Given the description of an element on the screen output the (x, y) to click on. 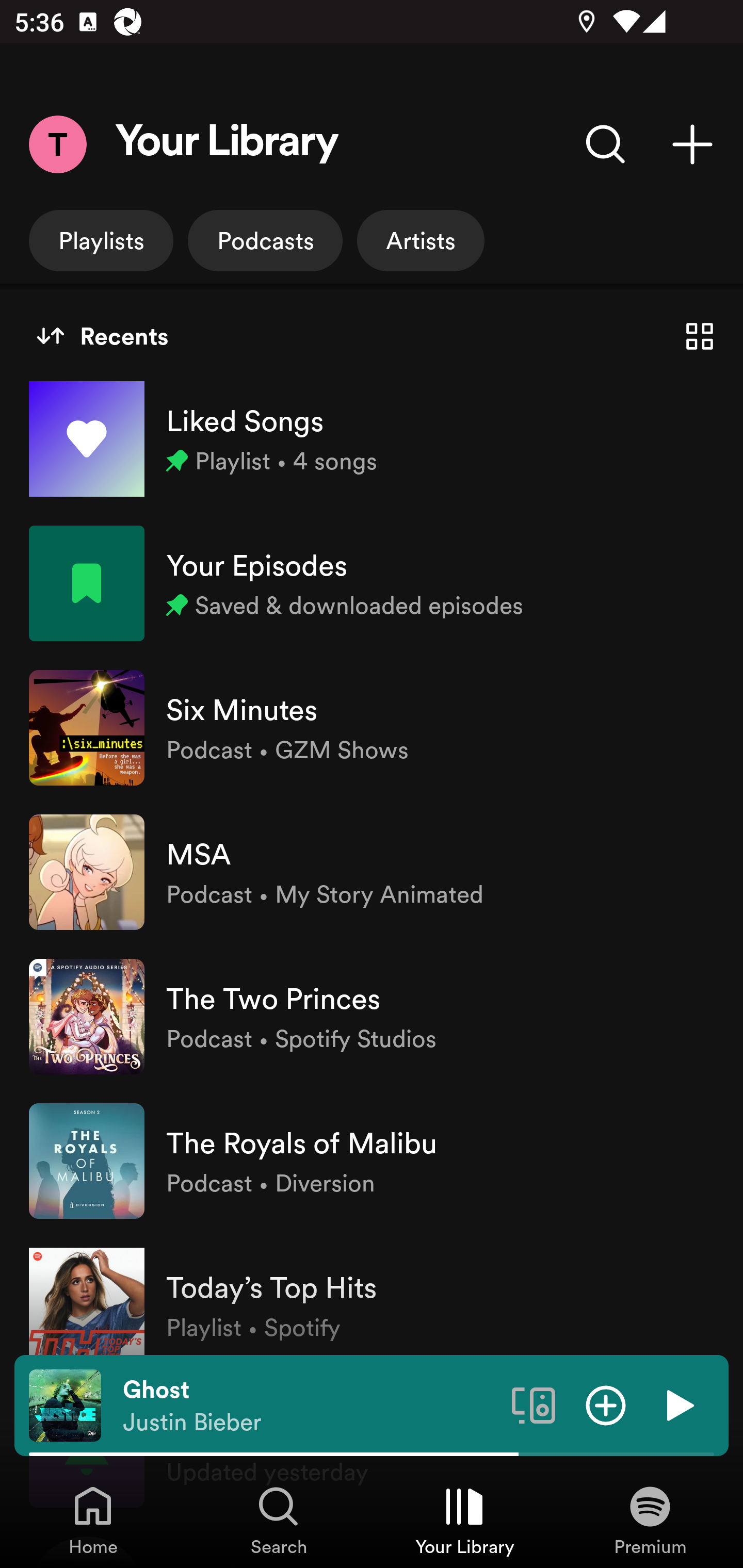
Menu (57, 144)
Search Your Library (605, 144)
Create playlist (692, 144)
Your Library Your Library Heading (226, 144)
Playlists, show only playlists. (100, 240)
Podcasts, show only podcasts. (264, 240)
Artists, show only artists. (420, 240)
Recents (101, 336)
Show Grid view (699, 336)
Ghost Justin Bieber (309, 1405)
The cover art of the currently playing track (64, 1404)
Connect to a device. Opens the devices menu (533, 1404)
Add item (605, 1404)
Play (677, 1404)
Home, Tab 1 of 4 Home Home (92, 1519)
Search, Tab 2 of 4 Search Search (278, 1519)
Your Library, Tab 3 of 4 Your Library Your Library (464, 1519)
Premium, Tab 4 of 4 Premium Premium (650, 1519)
